Given the description of an element on the screen output the (x, y) to click on. 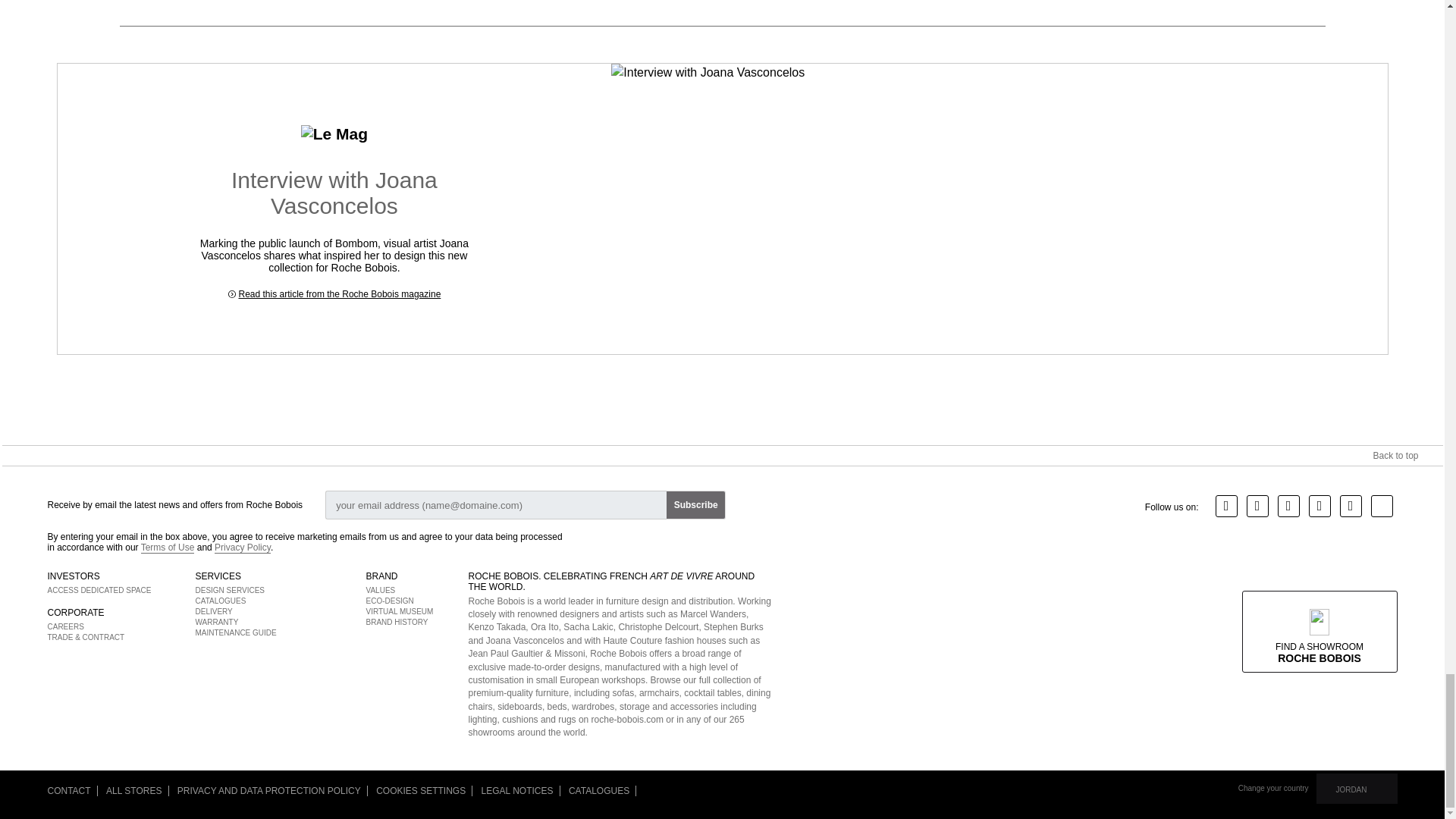
Le Mag (334, 134)
